Given the description of an element on the screen output the (x, y) to click on. 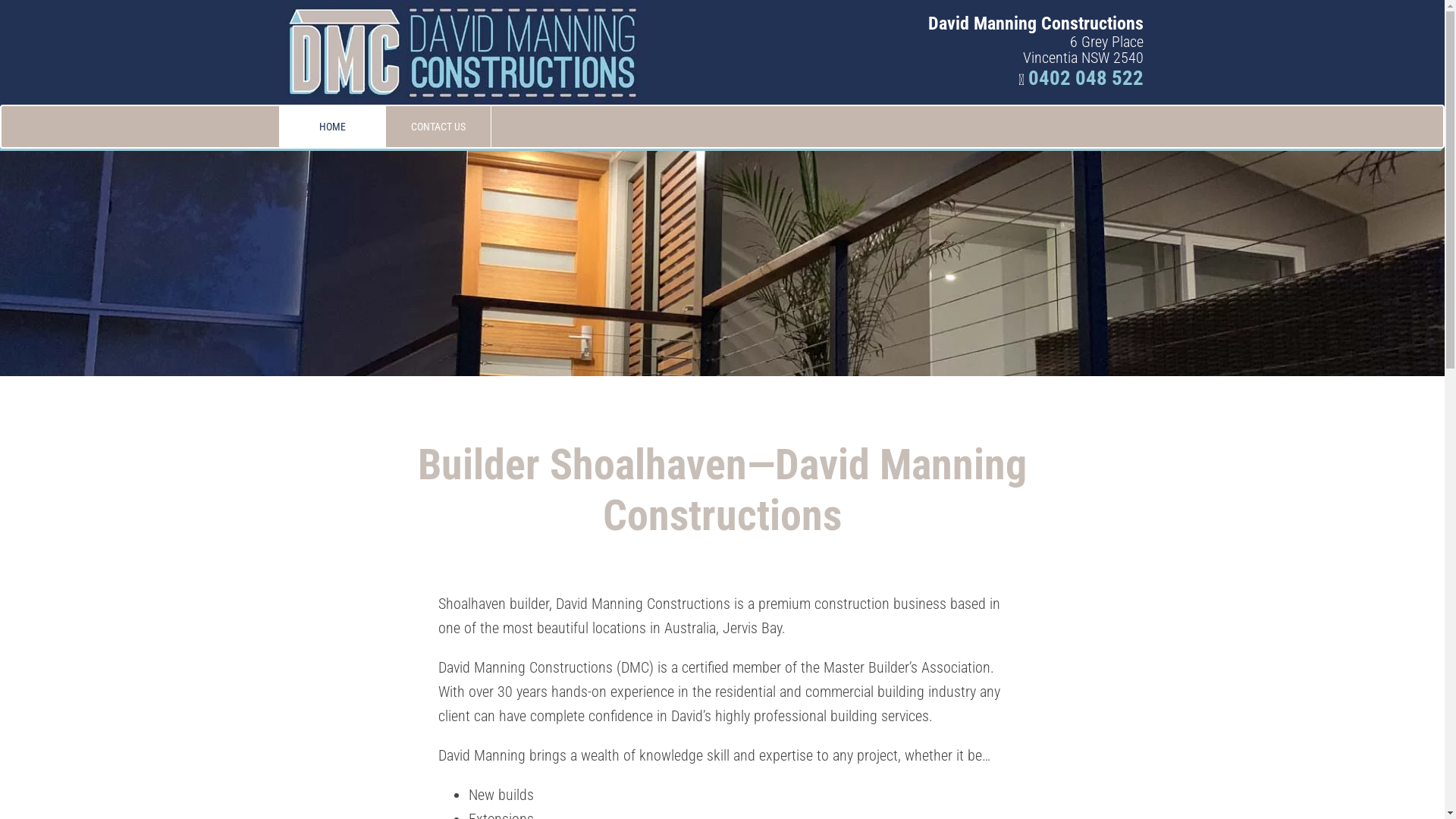
0402 048 522 Element type: text (1085, 77)
HOME Element type: text (331, 126)
CONTACT US Element type: text (437, 126)
